Given the description of an element on the screen output the (x, y) to click on. 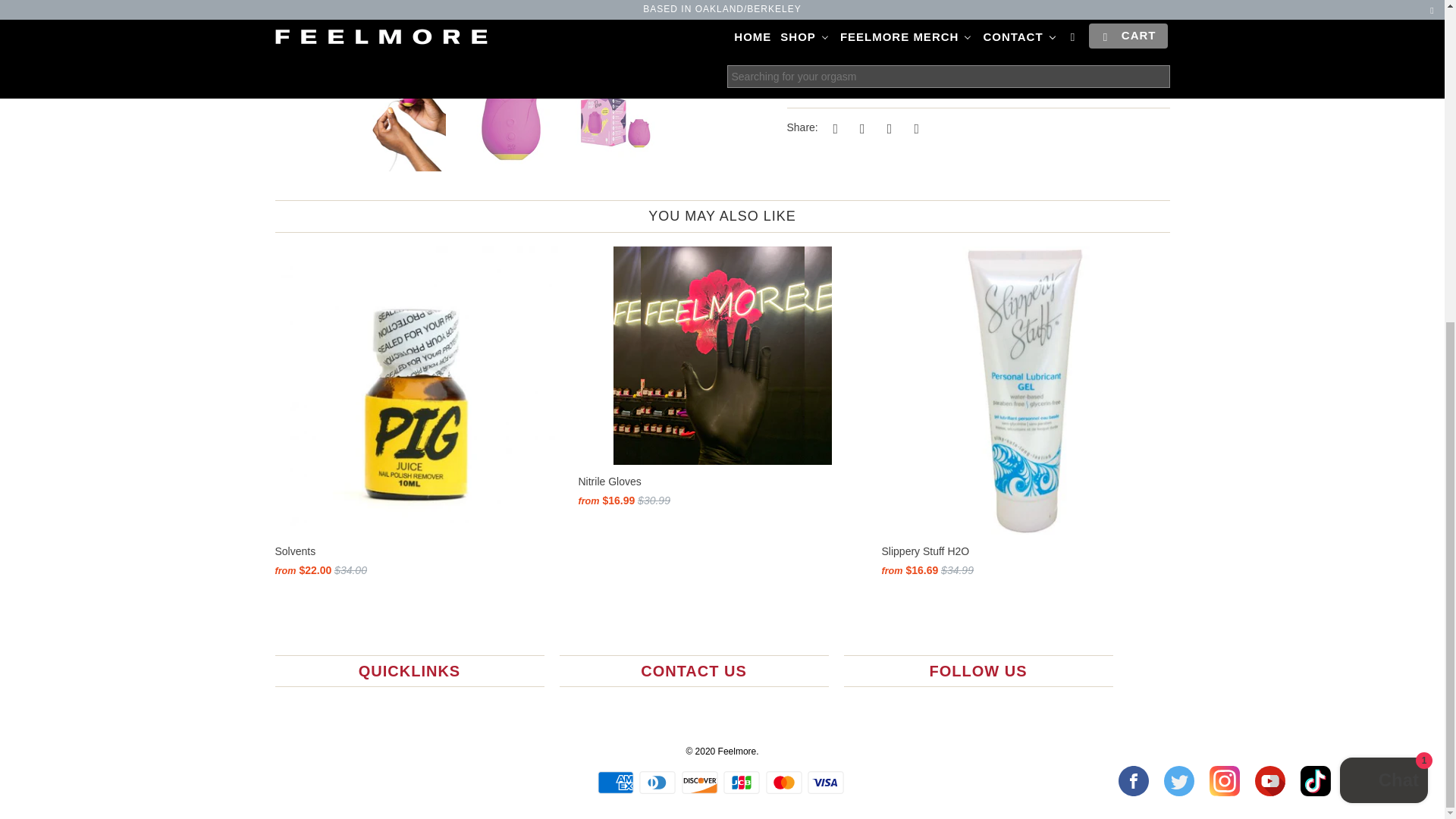
ROMP Rose Clitoral Stimulator (523, 30)
JCB (742, 782)
Diners Club (658, 782)
American Express (616, 782)
Mastercard (785, 782)
Discover (700, 782)
Visa (827, 782)
